Given the description of an element on the screen output the (x, y) to click on. 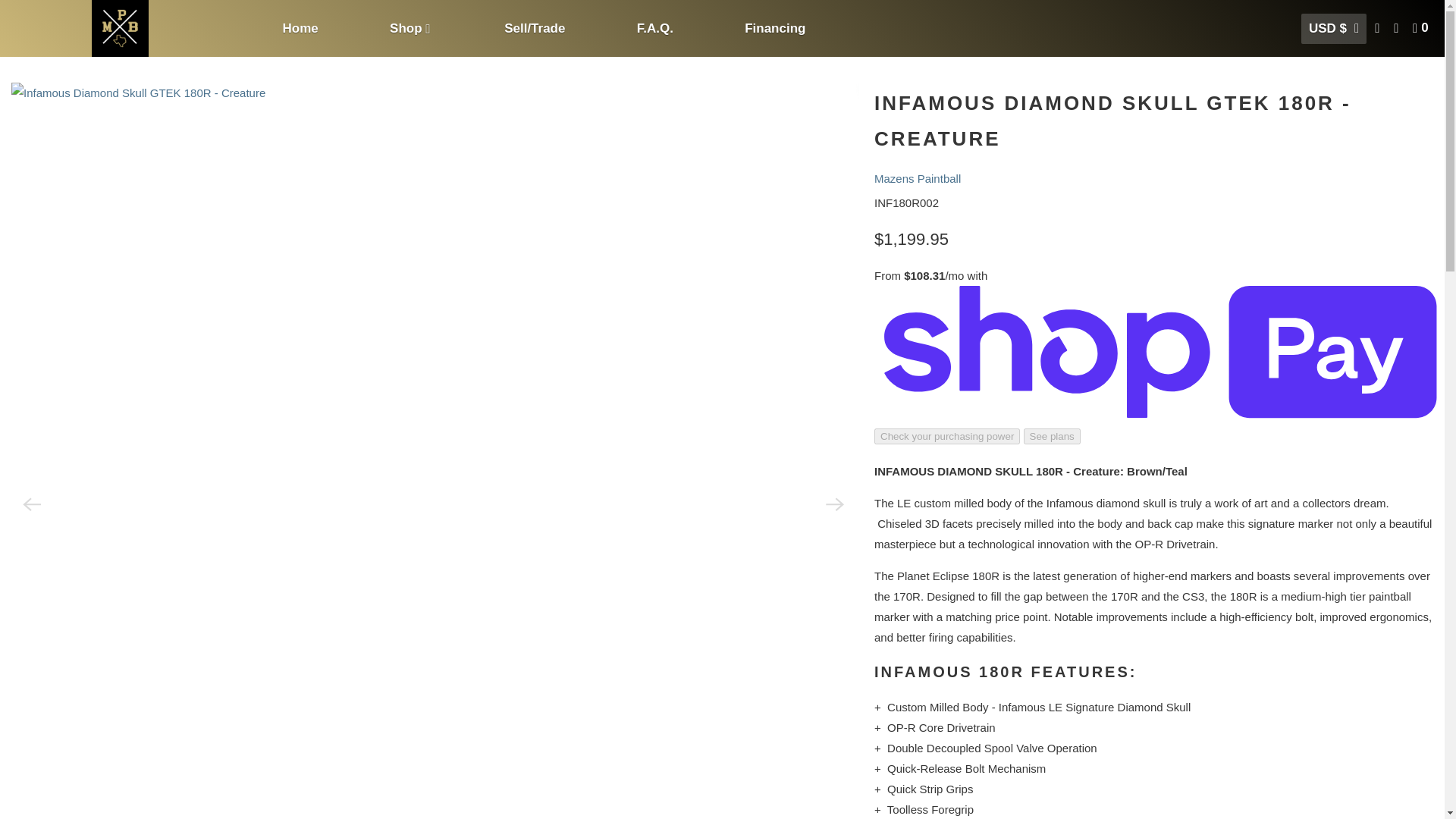
Mazens Paintball (20, 30)
Mazens Paintball (917, 178)
Products (66, 30)
Mazens Paintball (119, 28)
